Given the description of an element on the screen output the (x, y) to click on. 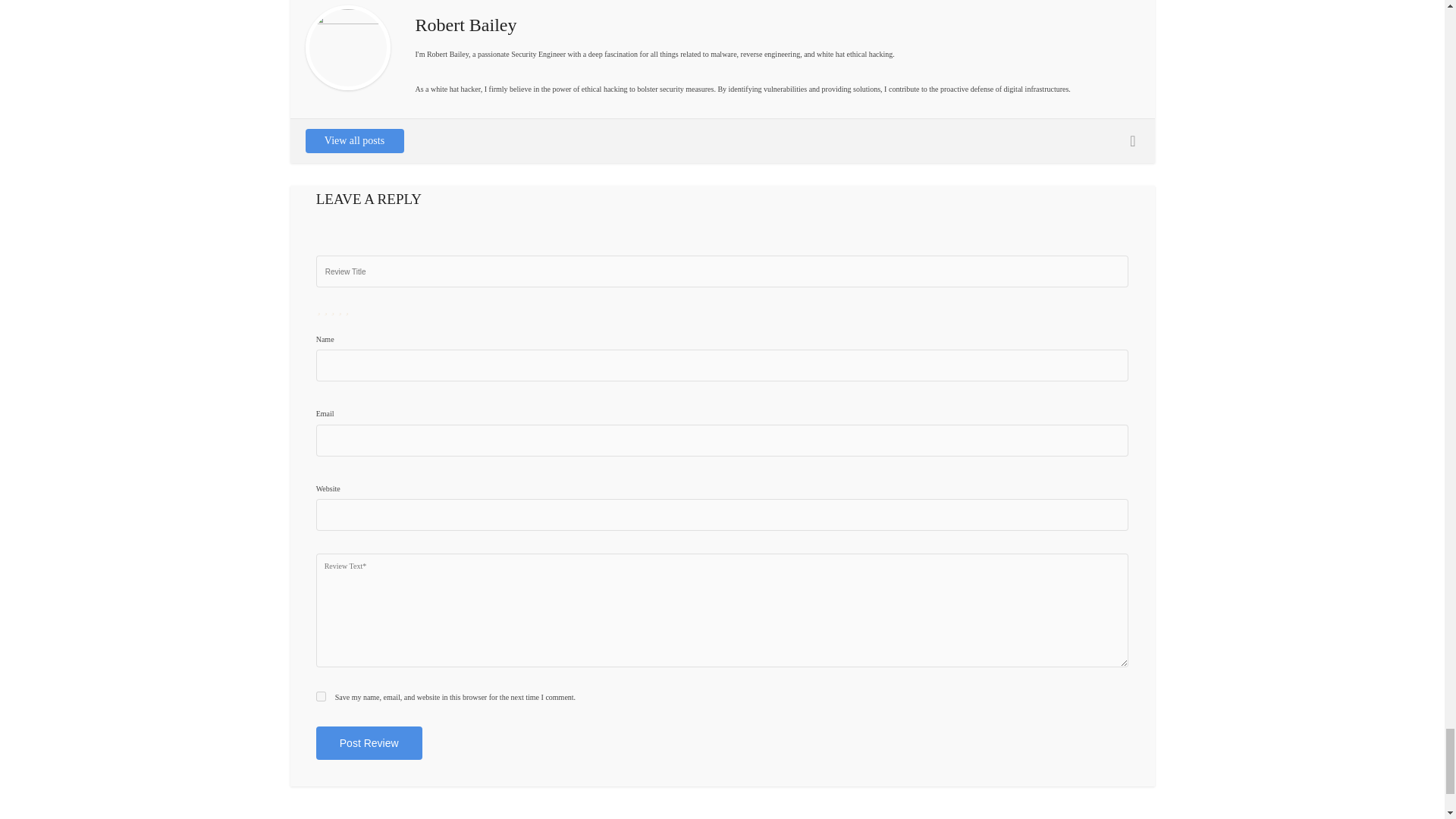
yes (320, 696)
Post Review (368, 743)
